Given the description of an element on the screen output the (x, y) to click on. 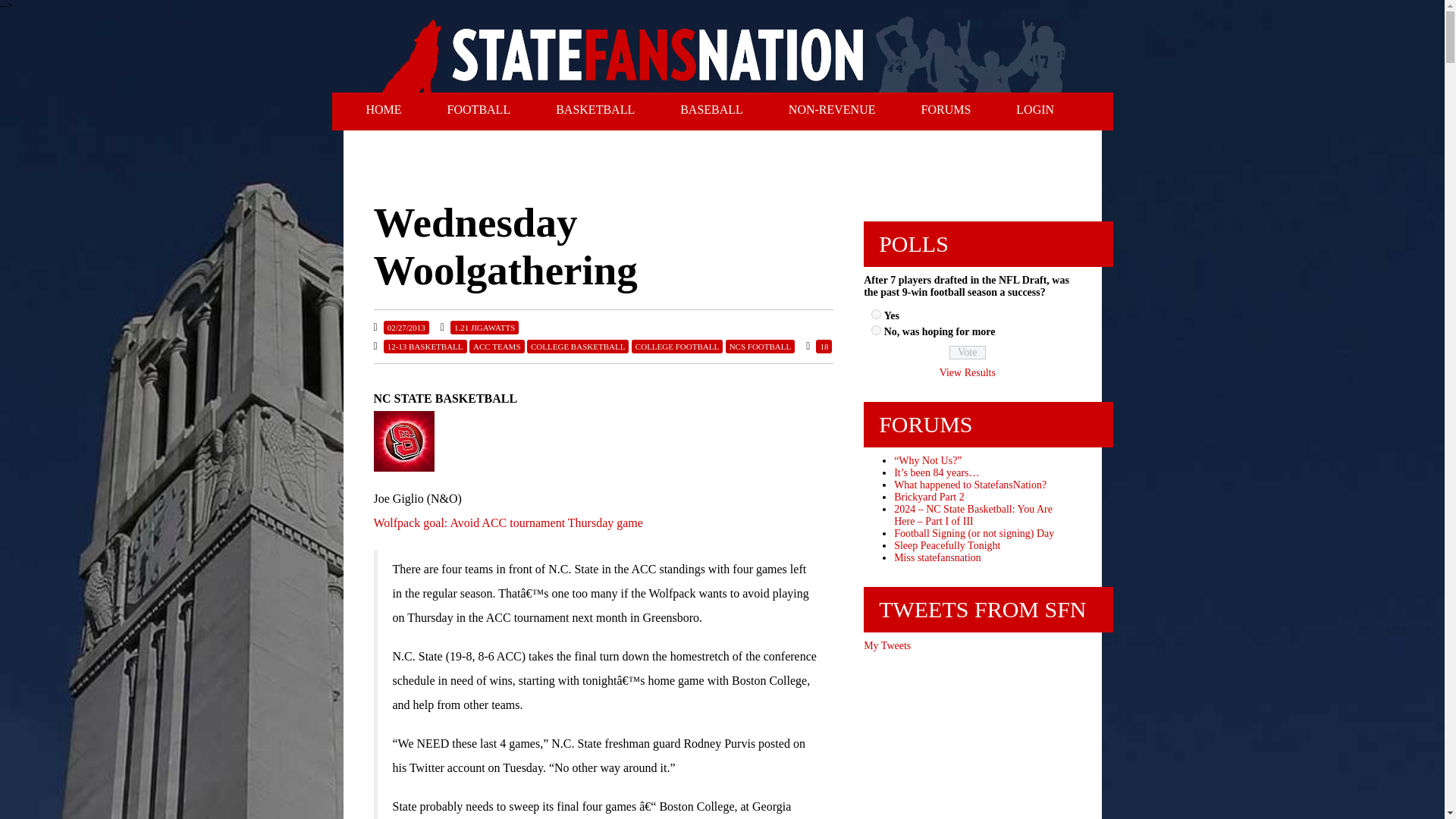
BASEBALL (711, 109)
FORUMS (945, 109)
Permalink to Wednesday Woolgathering (406, 327)
12-13 BASKETBALL (425, 345)
NCS FOOTBALL (759, 345)
1.21 JIGAWATTS (483, 327)
COLLEGE FOOTBALL (676, 345)
BASKETBALL (595, 109)
833 (875, 329)
ACC TEAMS (496, 345)
